Given the description of an element on the screen output the (x, y) to click on. 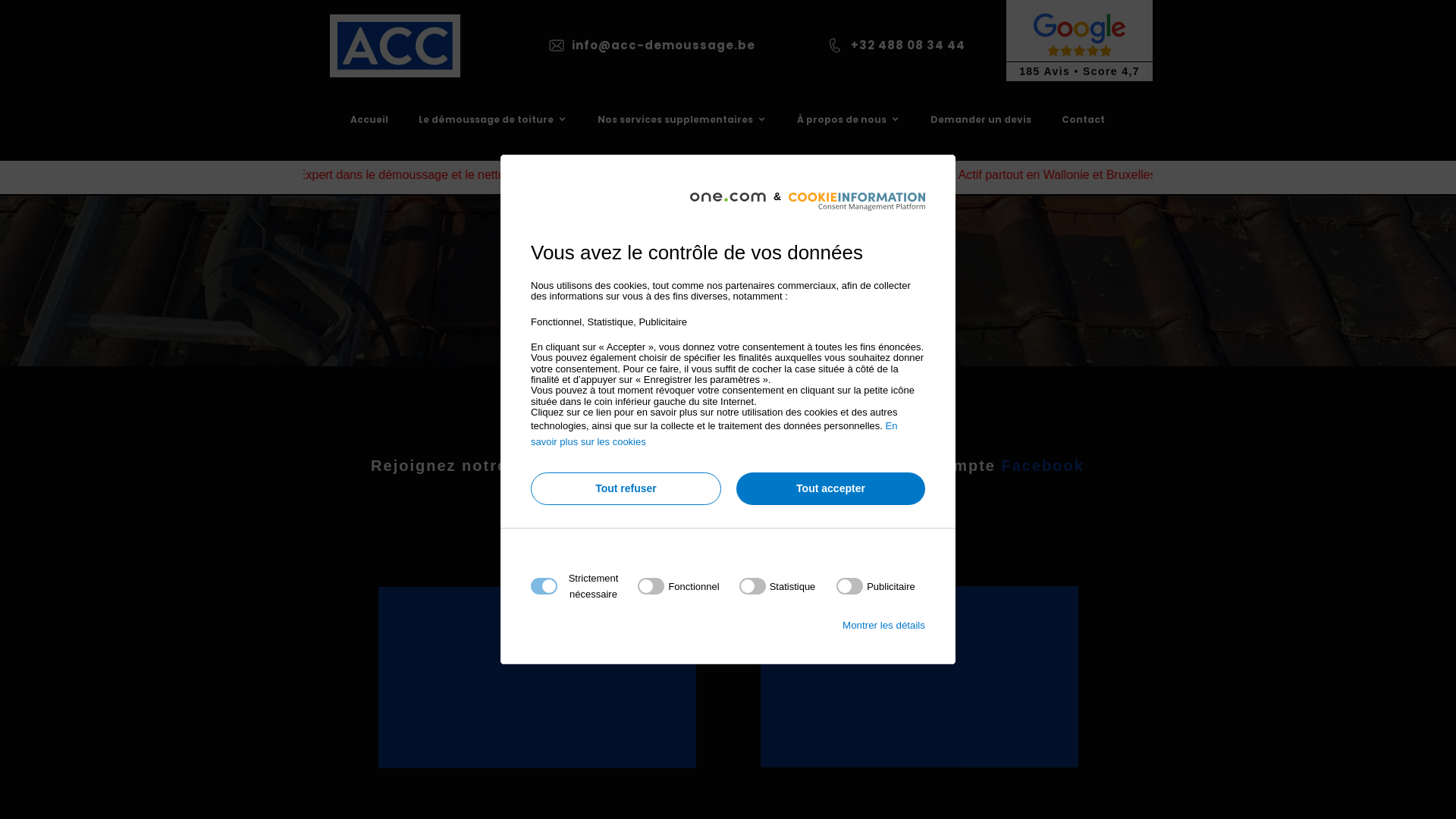
Instagram Element type: text (624, 465)
En savoir plus sur les cookies Element type: text (713, 433)
Tout accepter Element type: text (830, 488)
on Element type: text (677, 586)
Nos services supplementaires Element type: text (681, 119)
on Element type: text (777, 586)
Tout refuser Element type: text (625, 488)
Facebook Element type: text (1042, 465)
on Element type: text (875, 586)
Demander un devis Element type: text (981, 119)
info@acc-demoussage.be Element type: text (663, 44)
+32 488 08 34 44 Element type: text (907, 44)
Fonctionnel Element type: text (723, 769)
Accueil Element type: text (368, 119)
Contact Element type: text (1083, 119)
